Given the description of an element on the screen output the (x, y) to click on. 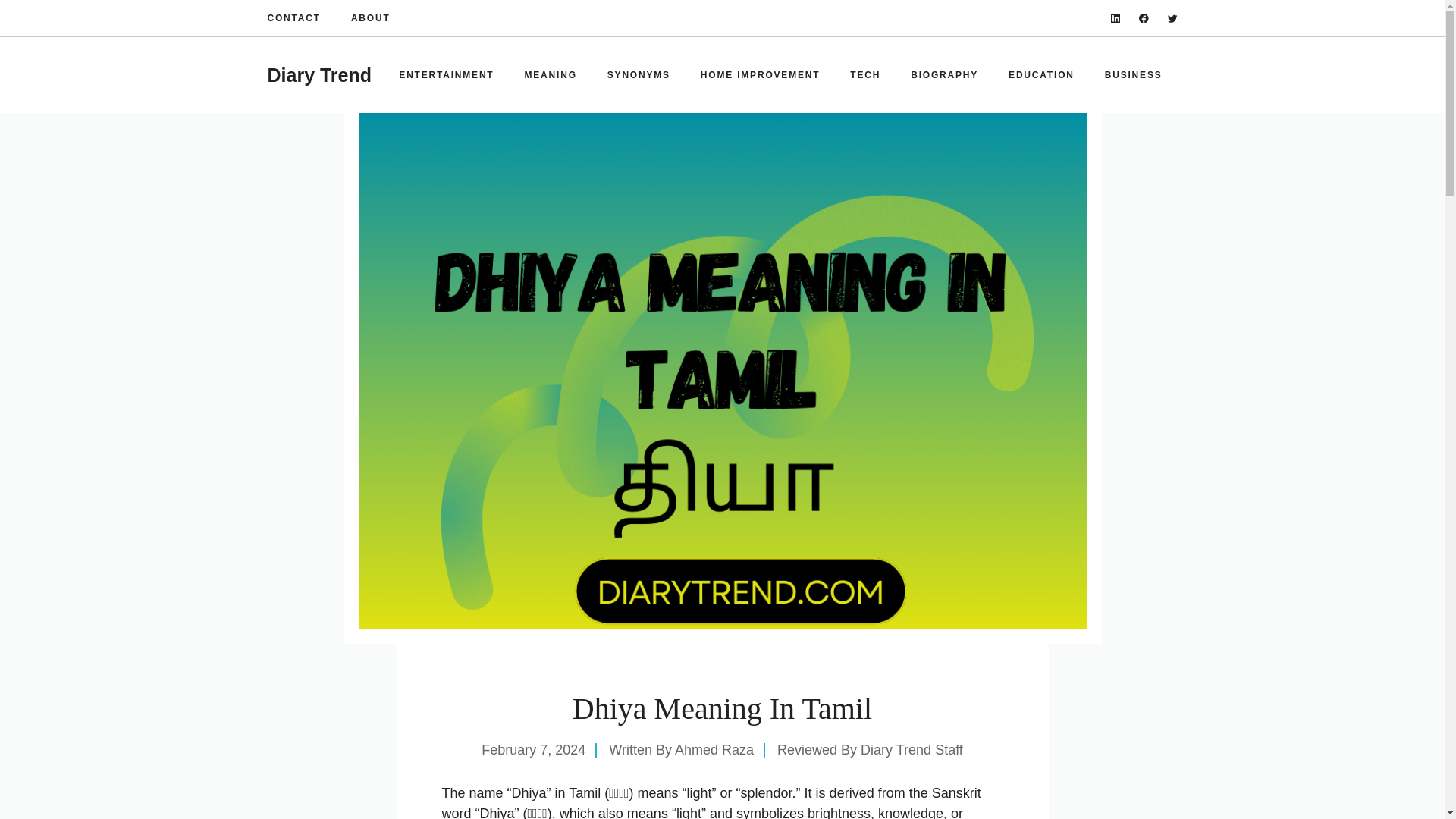
ABOUT (370, 18)
Diary Trend (318, 74)
TECH (864, 74)
SYNONYMS (638, 74)
EDUCATION (1040, 74)
HOME IMPROVEMENT (759, 74)
BUSINESS (1133, 74)
ENTERTAINMENT (446, 74)
CONTACT (293, 18)
BIOGRAPHY (943, 74)
